Given the description of an element on the screen output the (x, y) to click on. 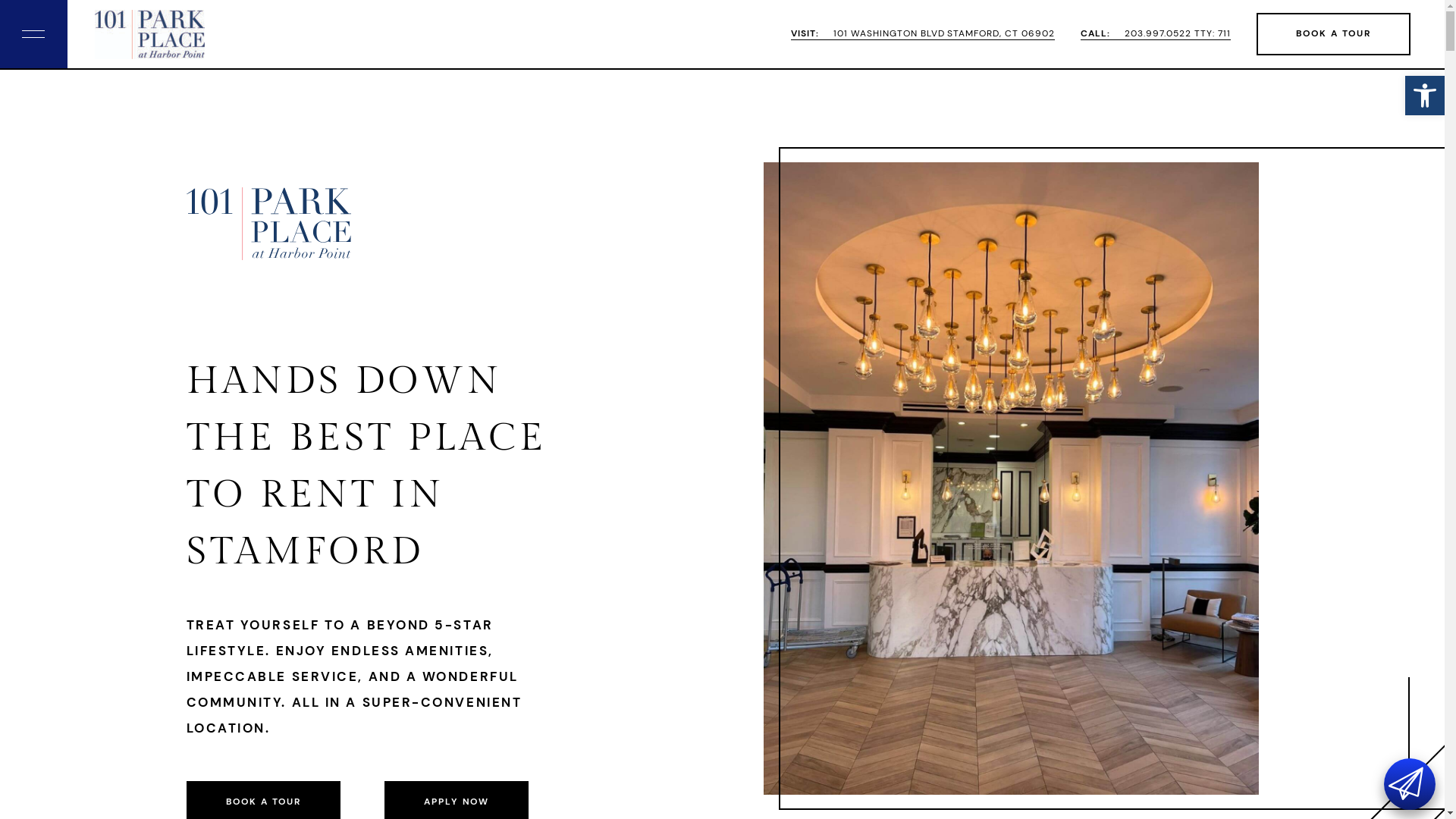
Open toolbar
Accessibility Tools Element type: text (1424, 95)
CALL:     203.997.0522 TTY: 711 Element type: text (1155, 34)
Skip to primary navigation Element type: text (0, 0)
VISIT:     101 WASHINGTON BLVD STAMFORD, CT 06902 Element type: text (922, 34)
BOOK A TOUR Element type: text (1333, 33)
